Given the description of an element on the screen output the (x, y) to click on. 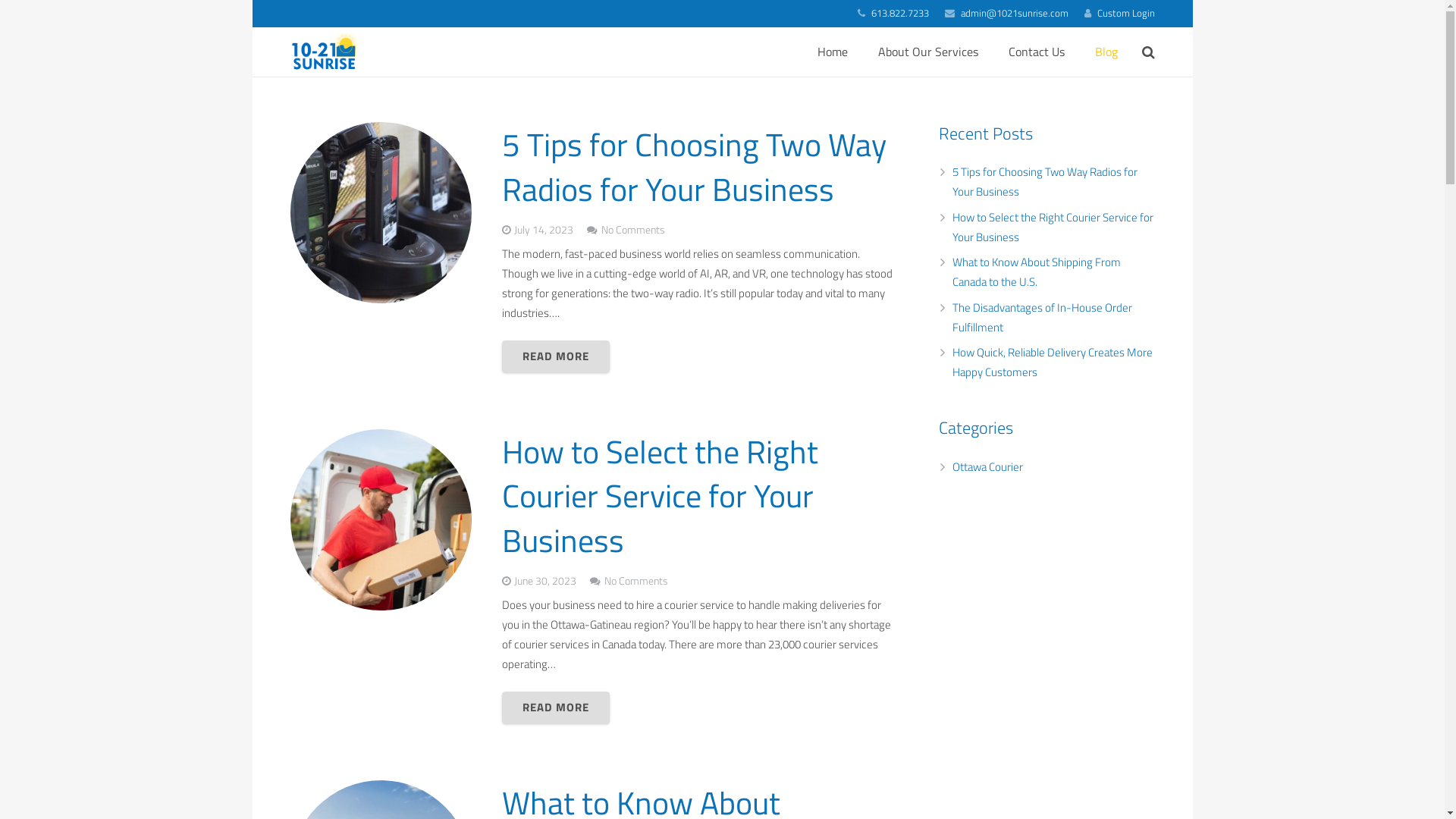
How to Select the Right Courier Service for Your Business Element type: text (660, 495)
Home Element type: text (832, 51)
Ottawa Courier Element type: text (987, 466)
Blog Element type: text (1105, 51)
5 Tips for Choosing Two Way Radios for Your Business Element type: text (694, 166)
About Our Services Element type: text (927, 51)
No Comments Element type: text (633, 229)
admin@1021sunrise.com Element type: text (1014, 12)
Contact Us Element type: text (1036, 51)
How Quick, Reliable Delivery Creates More Happy Customers Element type: text (1052, 361)
Custom Login Element type: text (1125, 12)
What to Know About Shipping From Canada to the U.S. Element type: text (1036, 271)
No Comments Element type: text (636, 580)
5 Tips for Choosing Two Way Radios for Your Business Element type: text (1044, 181)
READ MORE Element type: text (555, 707)
How to Select the Right Courier Service for Your Business Element type: text (1052, 226)
The Disadvantages of In-House Order Fulfillment Element type: text (1042, 316)
READ MORE Element type: text (555, 356)
